Given the description of an element on the screen output the (x, y) to click on. 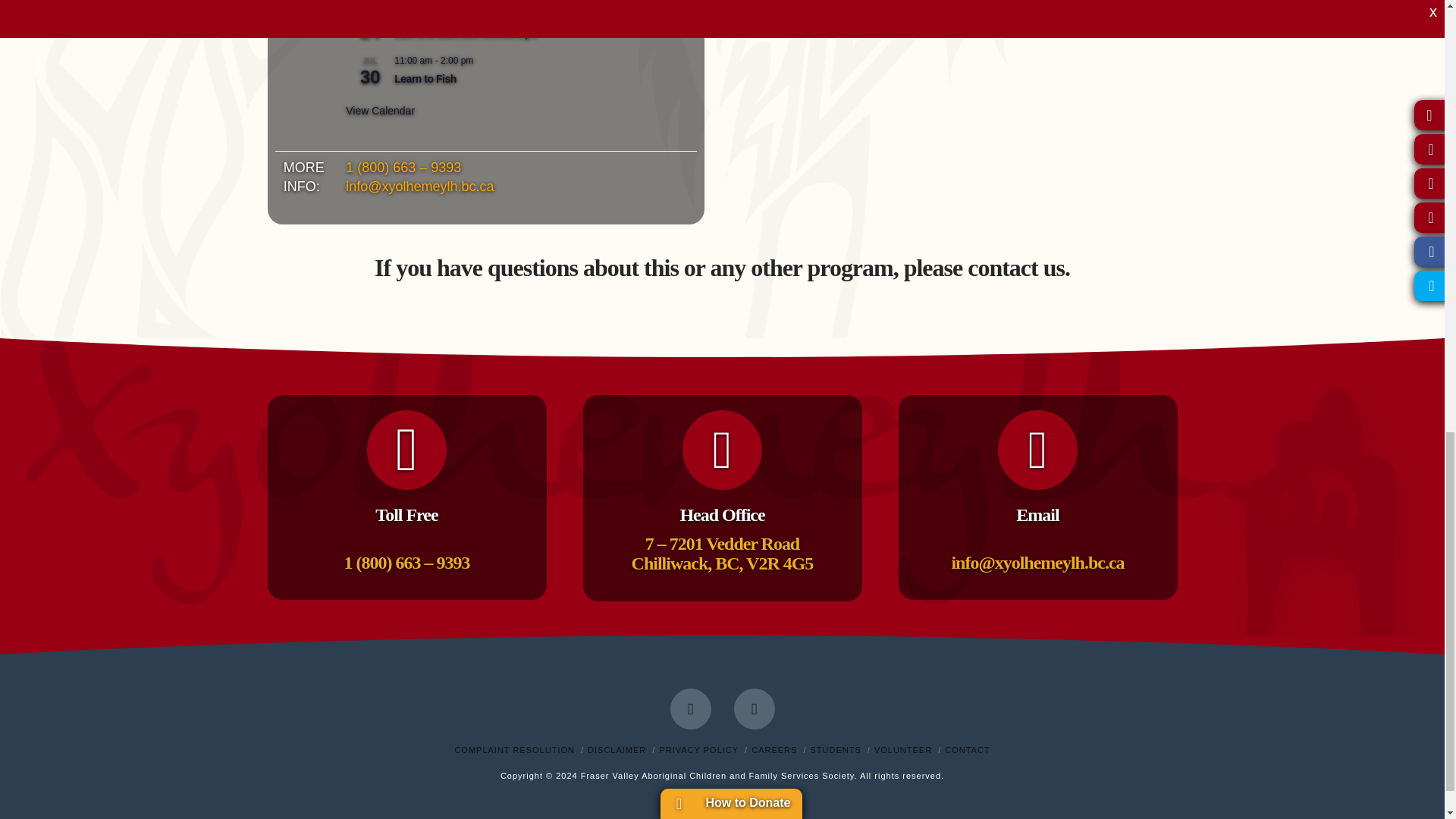
View Calendar (380, 110)
Facebook (690, 708)
View more events. (380, 110)
Jam and Bannock Workshops (464, 33)
Learn to Fish (425, 78)
Event Series (482, 15)
Jam and Bannock Workshops (464, 33)
Learn to Fish (425, 78)
